Given the description of an element on the screen output the (x, y) to click on. 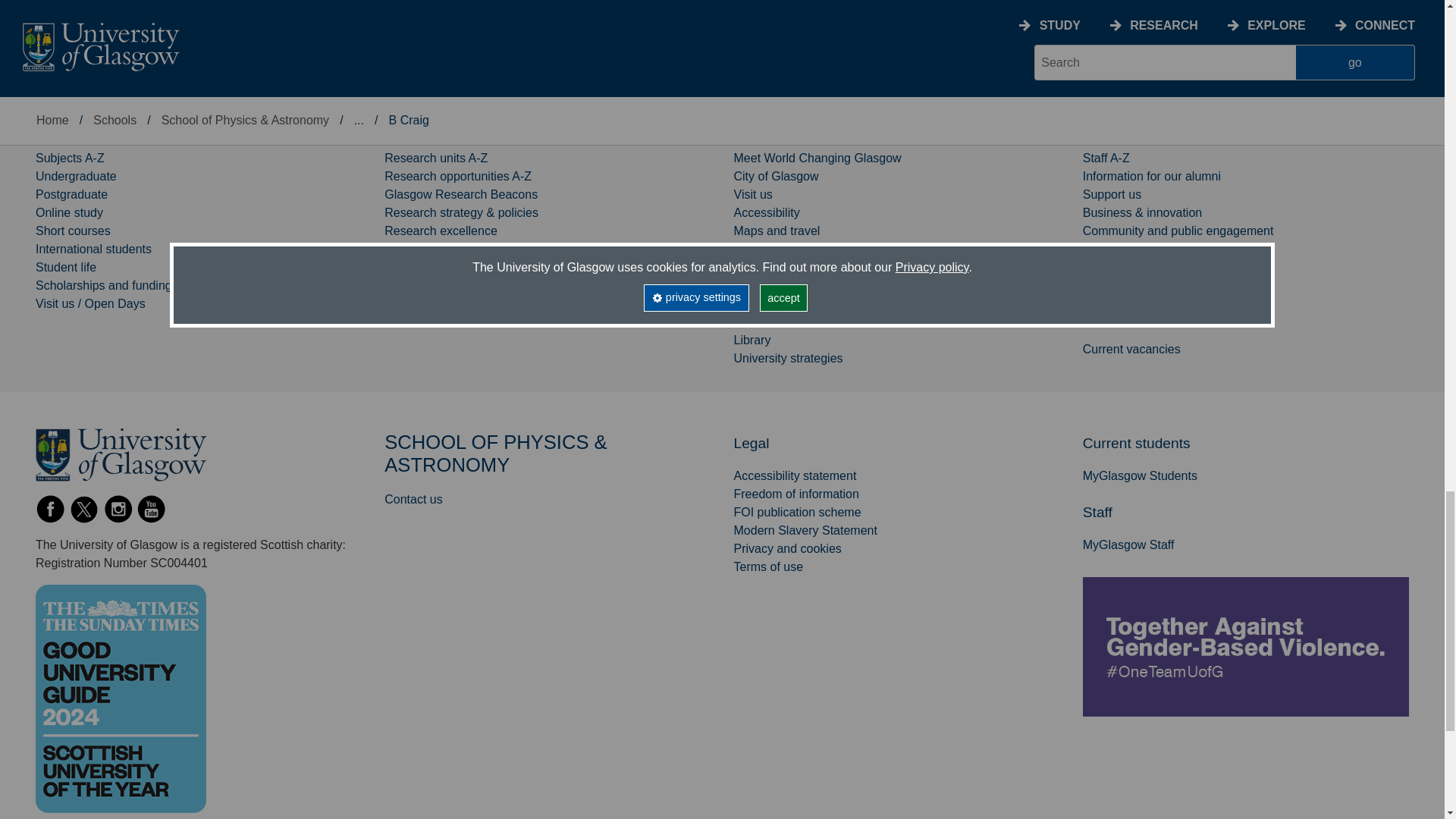
Online study (68, 212)
Subjects A-Z (69, 157)
Postgraduate (70, 194)
STUDY (59, 125)
Undergraduate (75, 175)
